Given the description of an element on the screen output the (x, y) to click on. 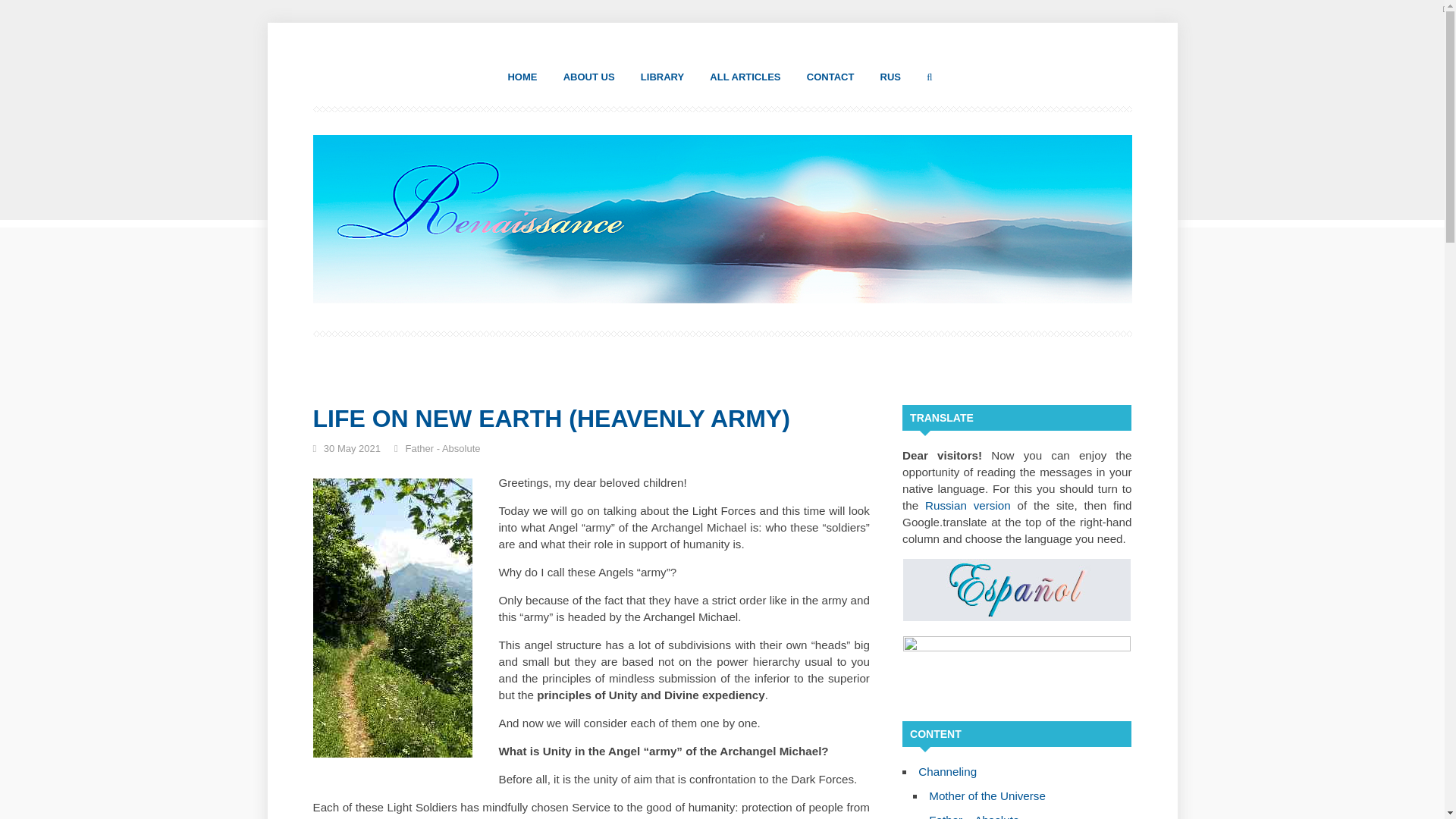
Channeling (947, 771)
RUS (890, 76)
HOME (521, 76)
ALL ARTICLES (745, 76)
ABOUT US (588, 76)
LIBRARY (662, 76)
Russian version (967, 504)
Mother of the Universe (986, 795)
Father - Absolute (442, 448)
